Given the description of an element on the screen output the (x, y) to click on. 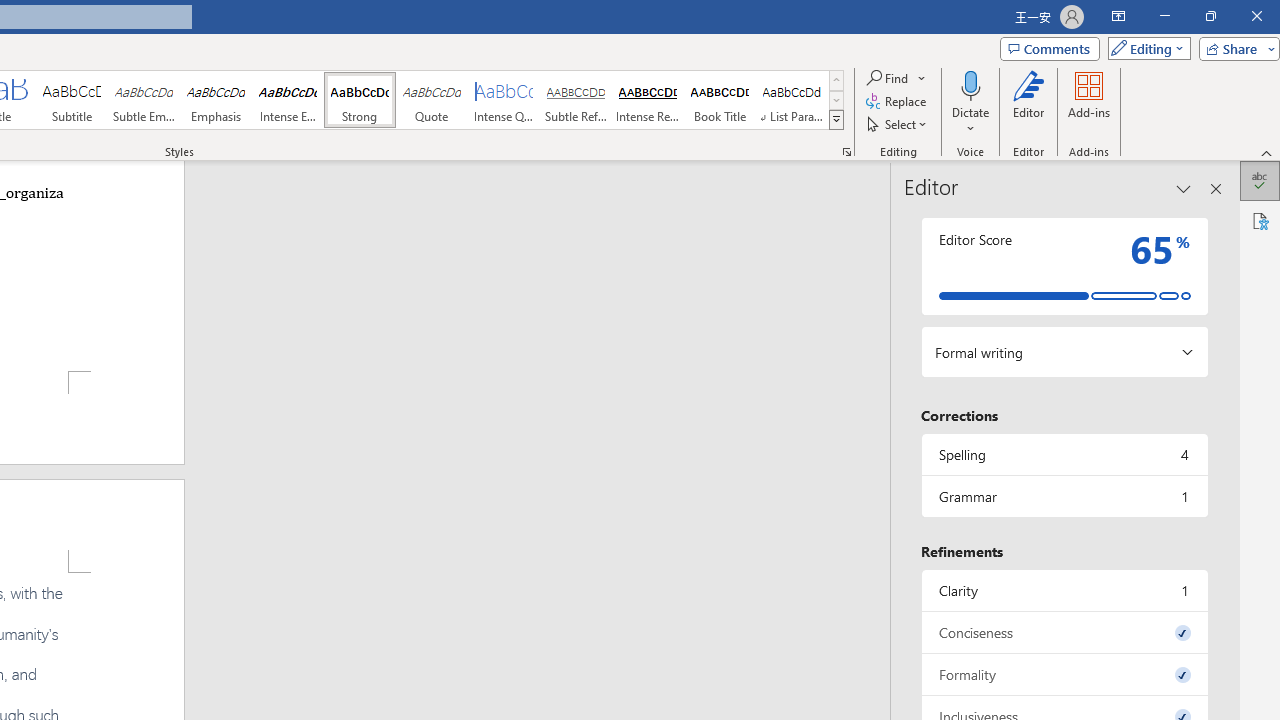
Quote (431, 100)
Subtle Reference (575, 100)
Emphasis (216, 100)
Grammar, 1 issue. Press space or enter to review items. (1064, 495)
Clarity, 1 issue. Press space or enter to review items. (1064, 590)
Formality, 0 issues. Press space or enter to review items. (1064, 673)
Subtle Emphasis (143, 100)
